Given the description of an element on the screen output the (x, y) to click on. 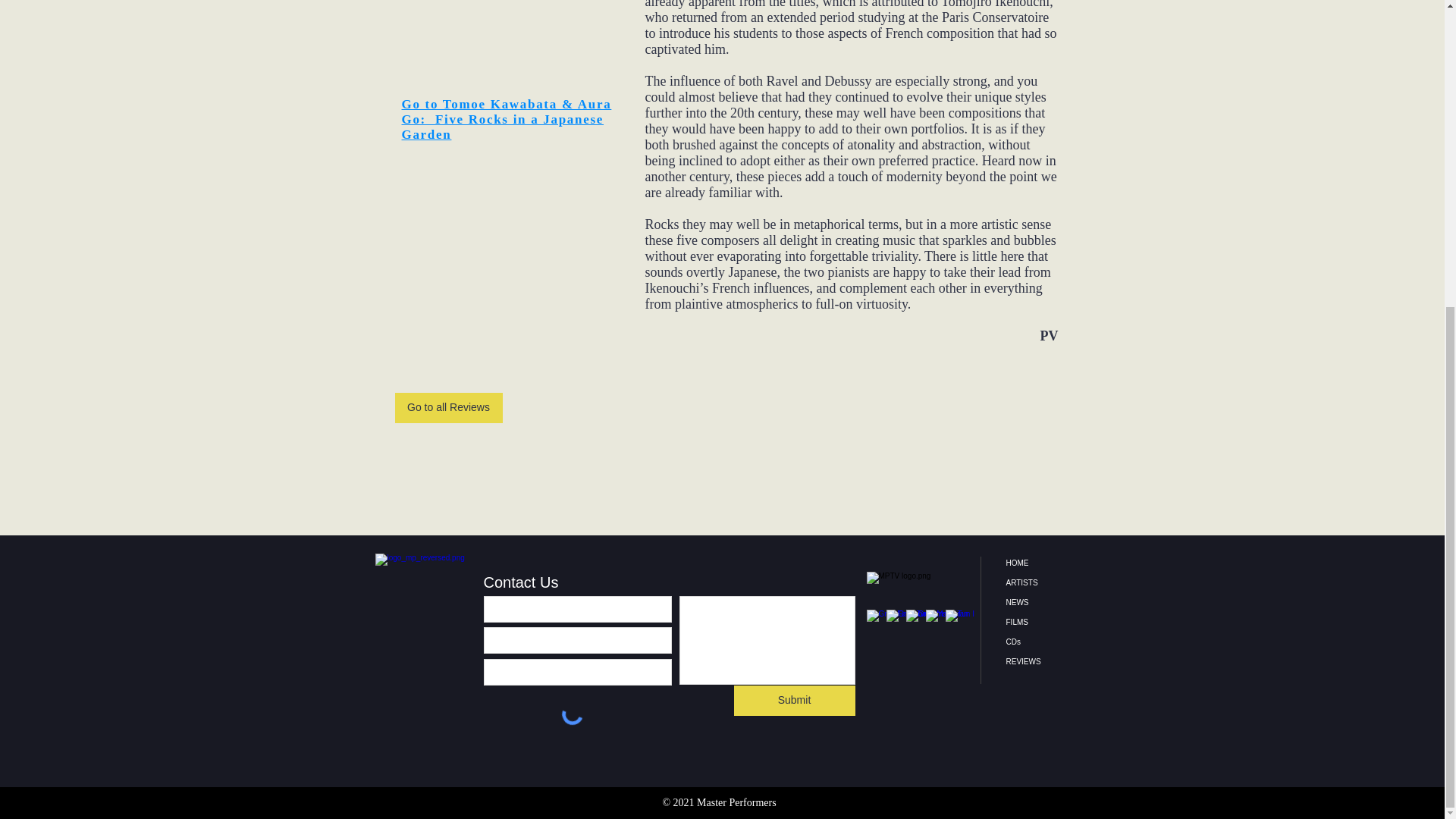
NEWS (1049, 602)
CDs (1049, 641)
Go to all Reviews (448, 408)
Submit (794, 700)
REVIEWS (1049, 661)
FILMS (1049, 622)
HOME (1049, 563)
ARTISTS (1049, 582)
